Given the description of an element on the screen output the (x, y) to click on. 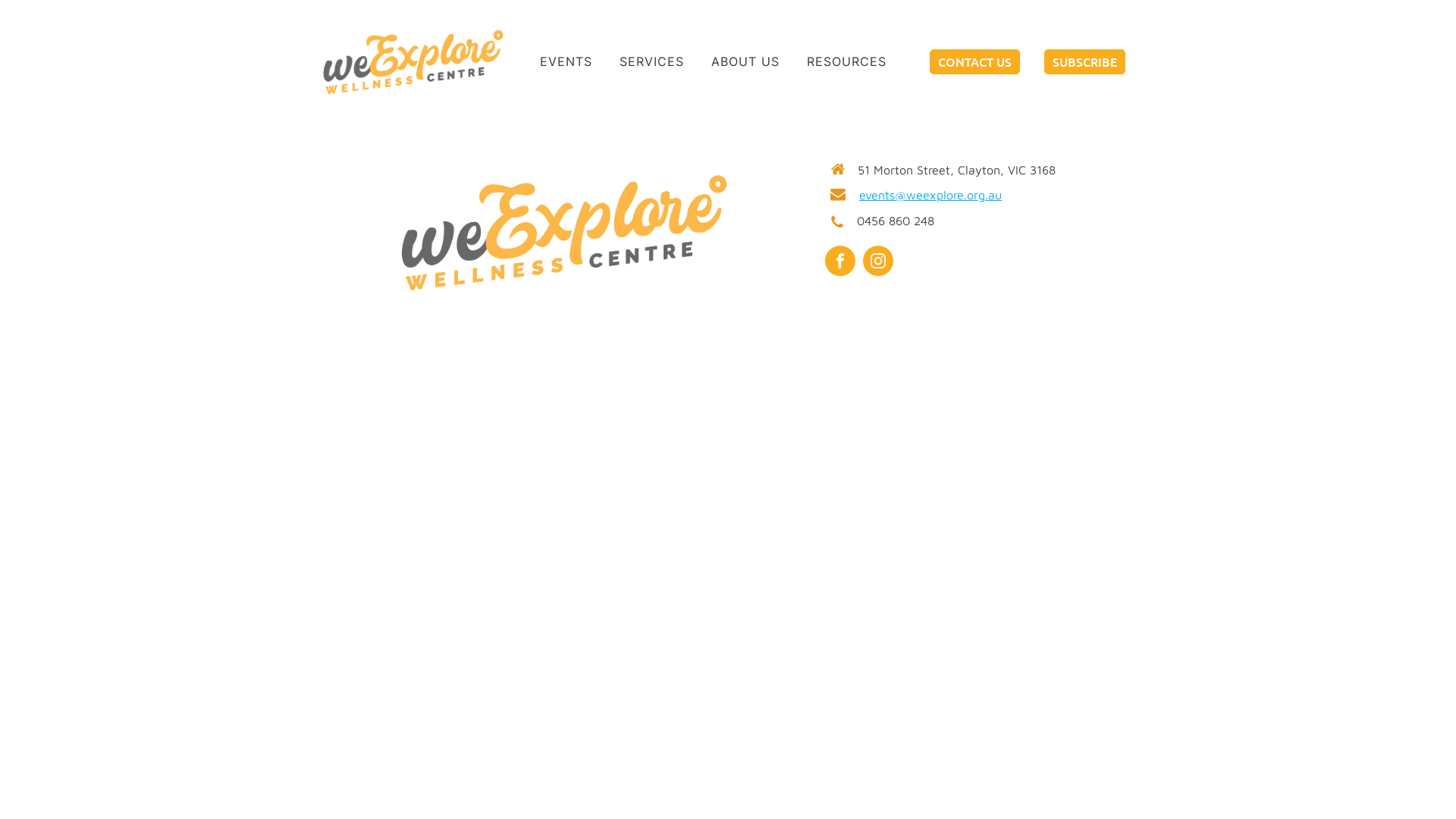
events@weexplore.org.au Element type: text (1065, 9)
SUBSCRIBE Element type: text (1084, 62)
SERVICES Element type: text (650, 61)
CONTACT US Element type: text (974, 62)
RESOURCES Element type: text (846, 61)
ABOUT US Element type: text (745, 61)
EVENTS Element type: text (565, 61)
events@weexplore.org.au Element type: text (930, 195)
